Given the description of an element on the screen output the (x, y) to click on. 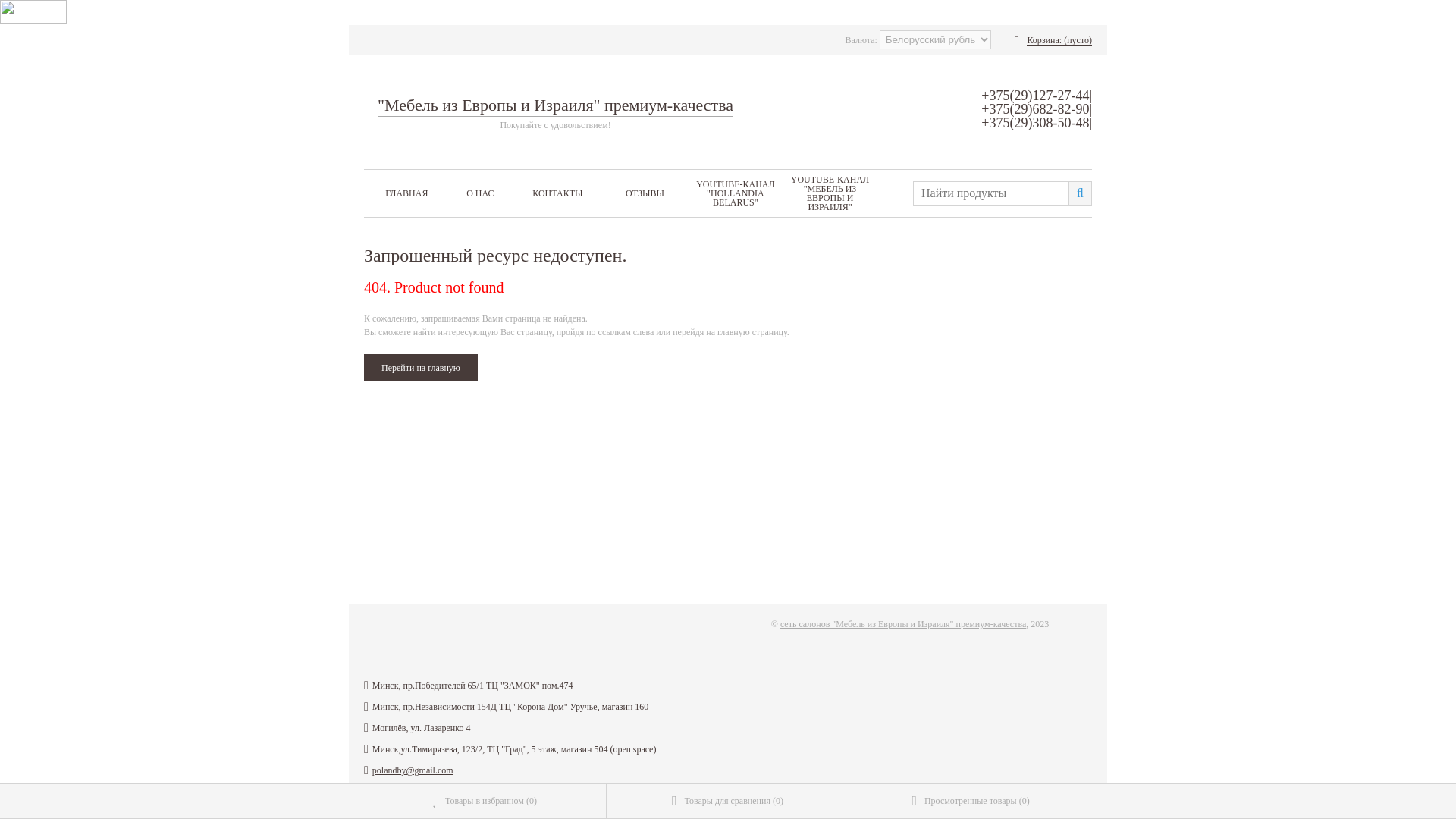
polandby@gmail.com Element type: text (412, 770)
